Given the description of an element on the screen output the (x, y) to click on. 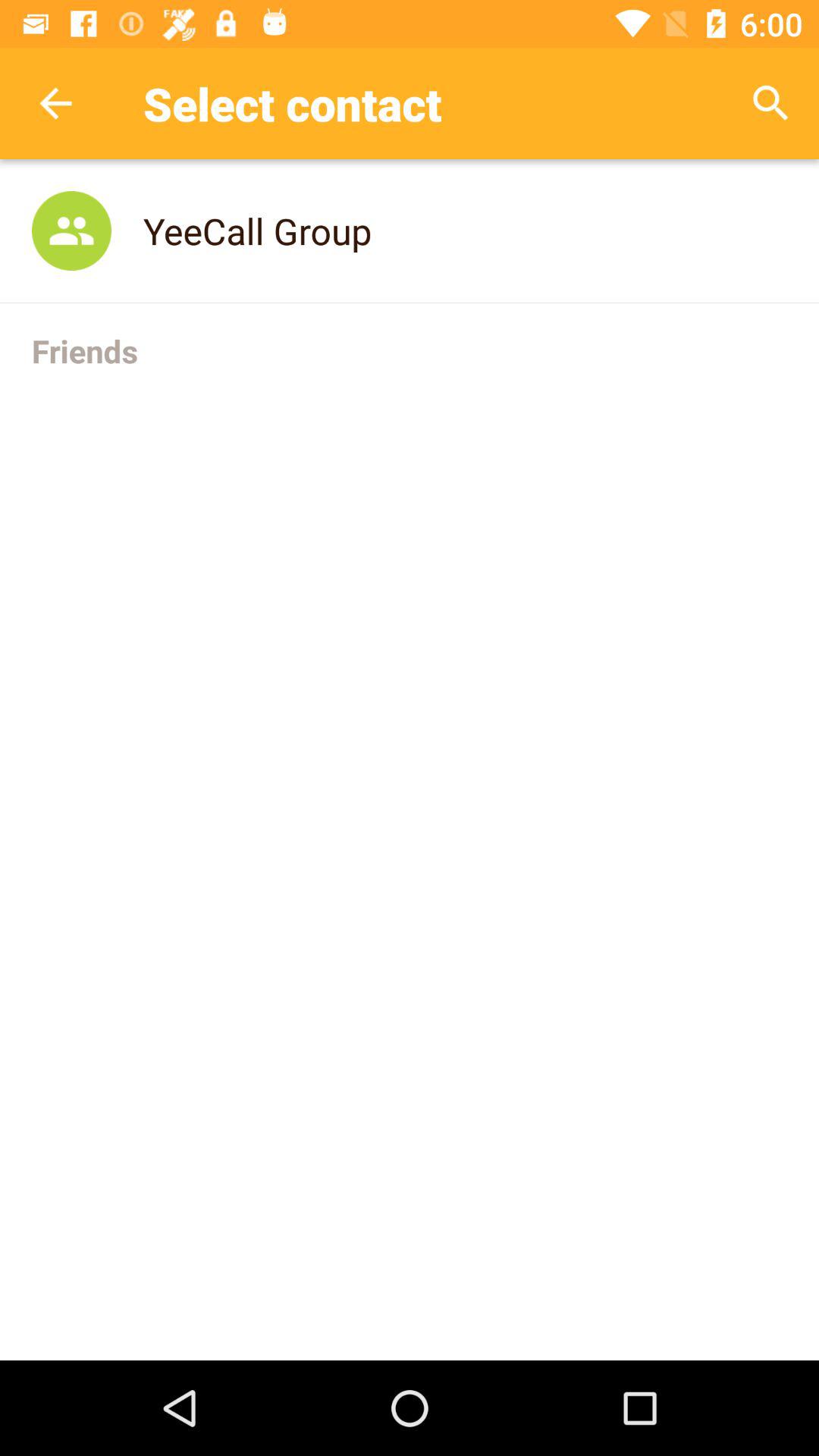
open item to the right of the select contact app (771, 103)
